Given the description of an element on the screen output the (x, y) to click on. 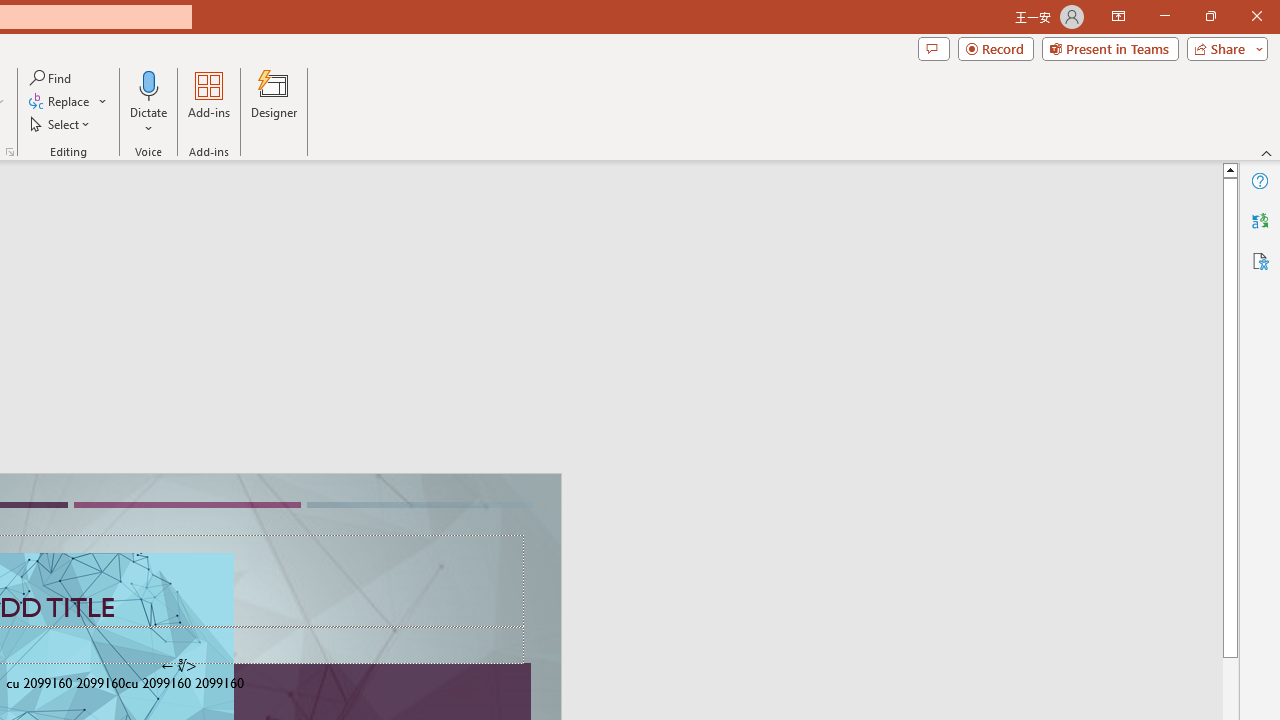
Select (61, 124)
TextBox 7 (178, 666)
